Given the description of an element on the screen output the (x, y) to click on. 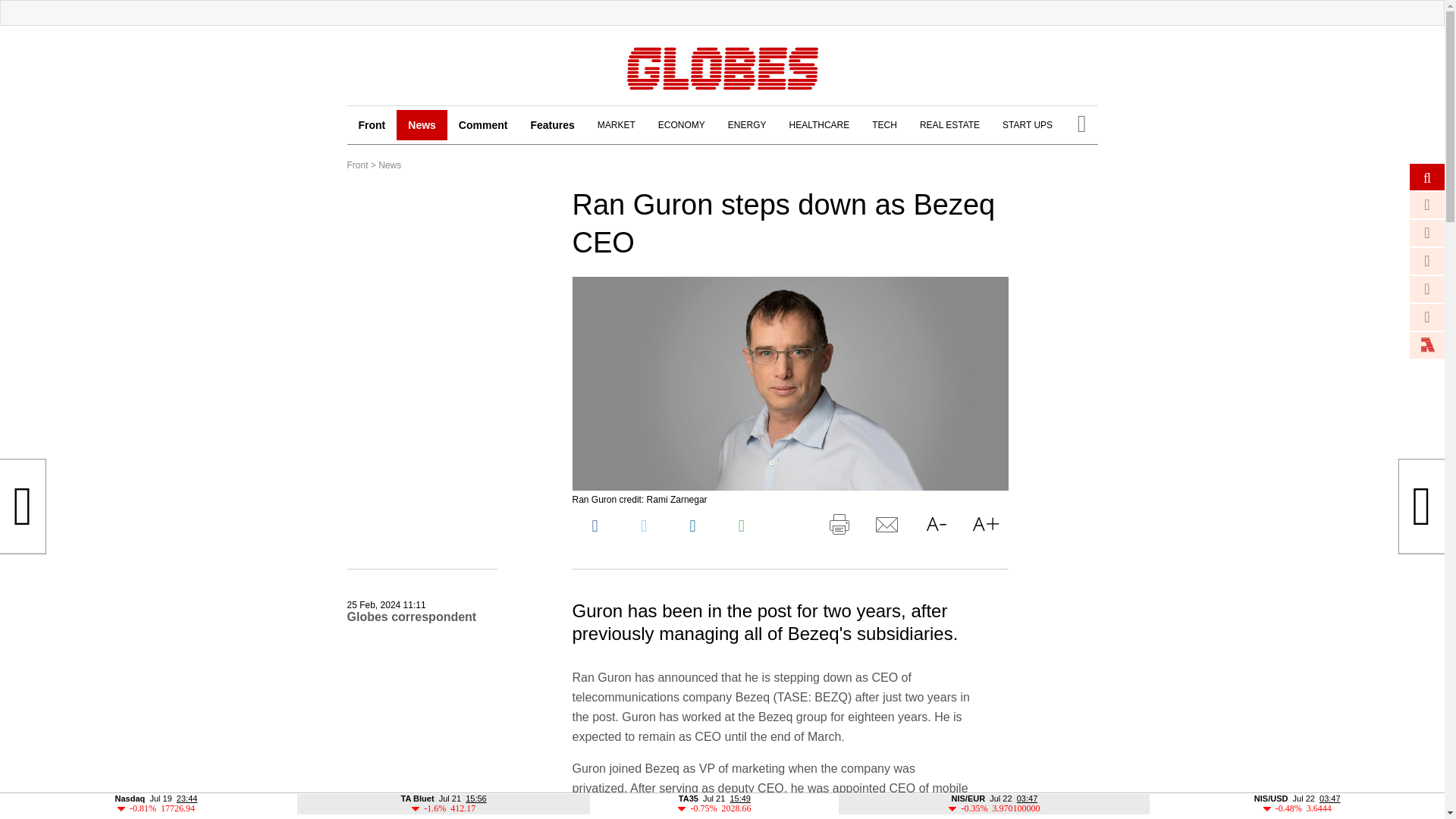
HEALTHCARE (818, 124)
ENERGY (747, 124)
Comment (483, 124)
MARKET (615, 124)
News (421, 124)
REAL ESTATE (949, 124)
print (838, 527)
ECONOMY (681, 124)
send to friend (887, 527)
Front (357, 164)
Ran Guron  credit: Rami Zarnegar (789, 383)
START UPS (1027, 124)
News (389, 164)
Features (551, 124)
Front (371, 124)
